Given the description of an element on the screen output the (x, y) to click on. 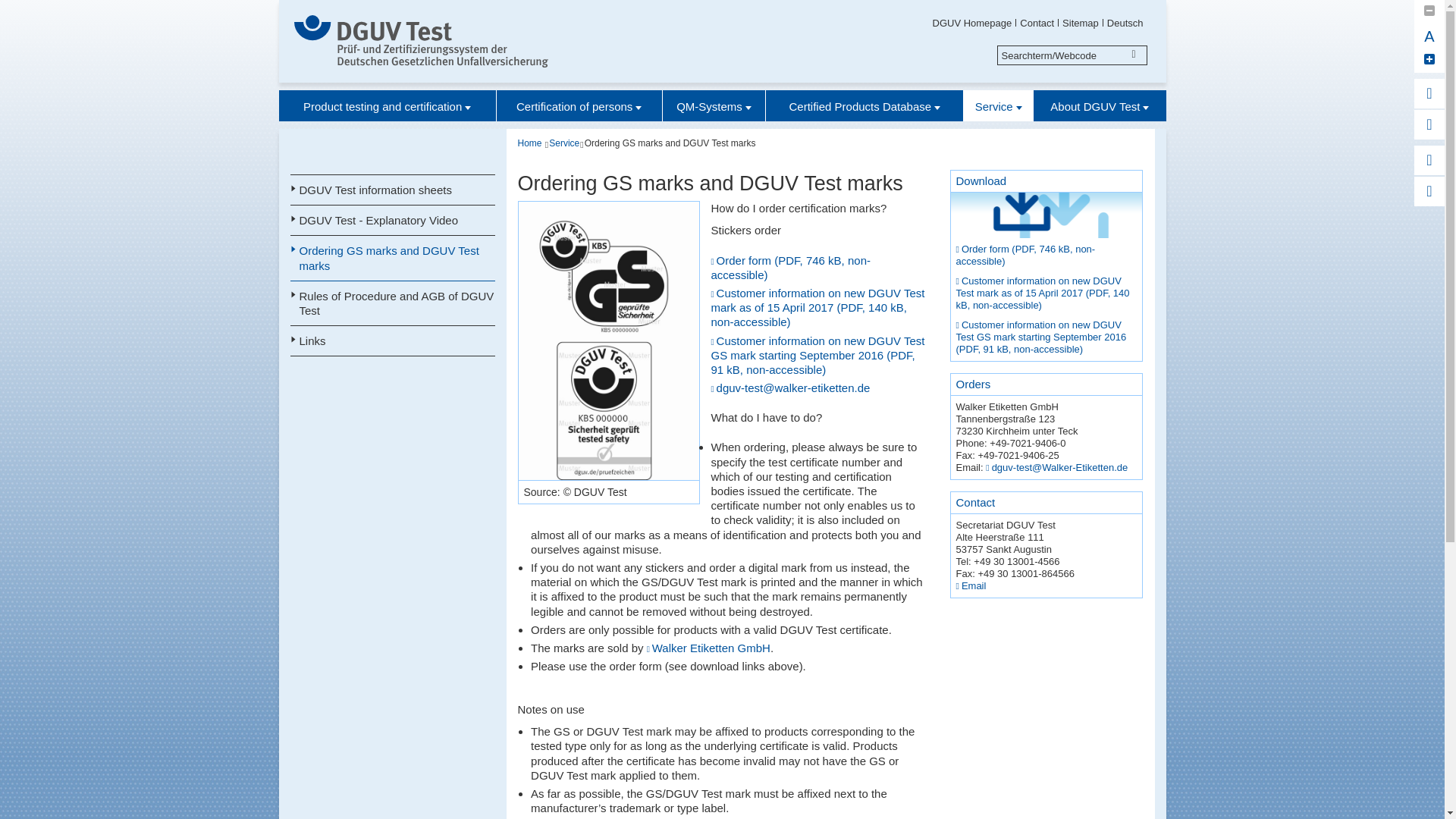
Sitemap (1080, 22)
Links (392, 340)
QM-Systems (713, 105)
DGUV Homepage (972, 22)
Deutsch (1125, 22)
Certification of persons (579, 105)
DGUV Homepage (972, 22)
Contact (1037, 22)
Home (528, 143)
Sitemap (1080, 22)
DGUV Test - Explanatory Video (392, 220)
DGUV Test information sheets (392, 190)
Service (997, 105)
Deutsch (1125, 22)
Product testing and certification (387, 105)
